Given the description of an element on the screen output the (x, y) to click on. 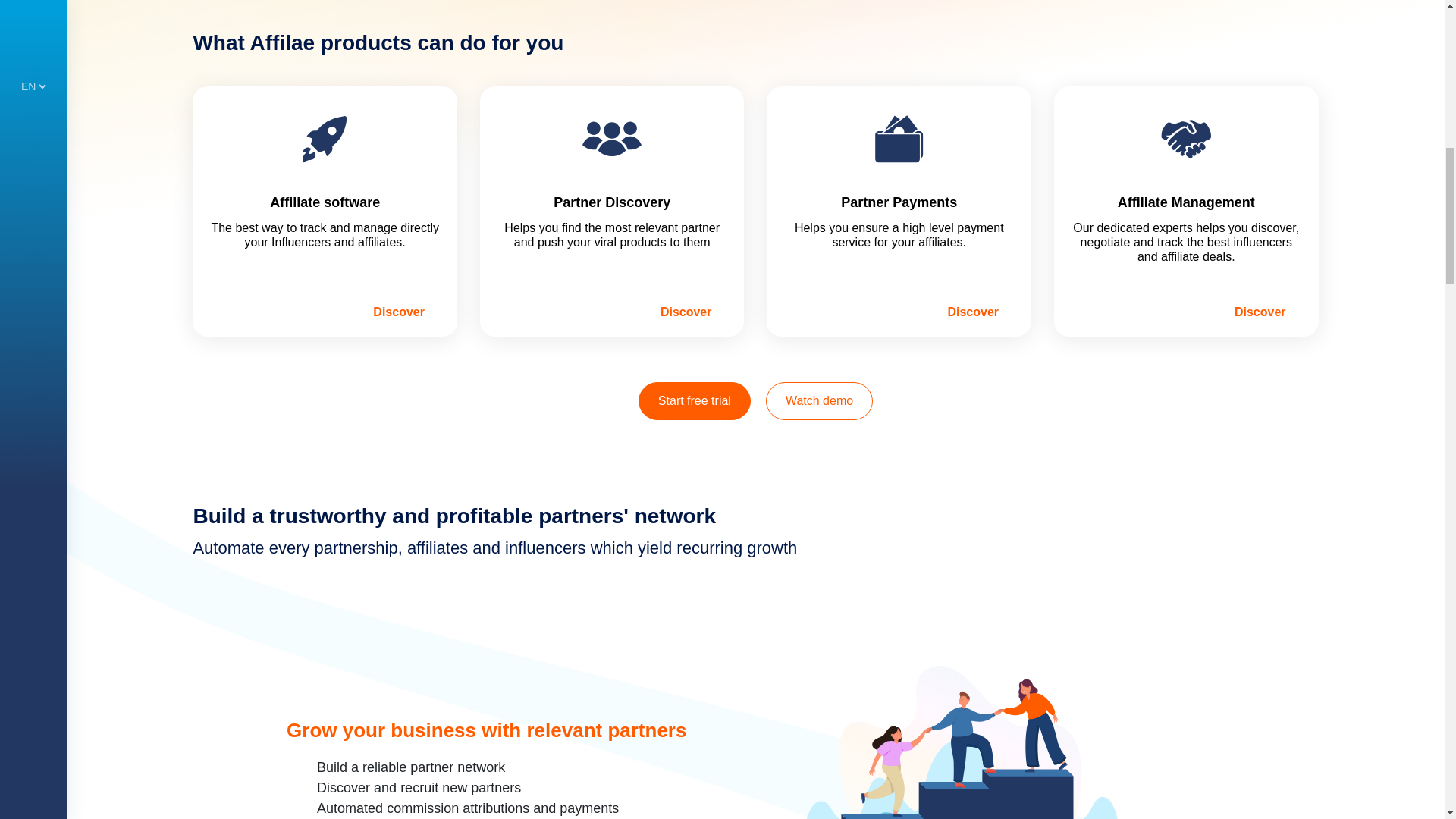
Start free trial (695, 401)
Watch demo (818, 401)
